Given the description of an element on the screen output the (x, y) to click on. 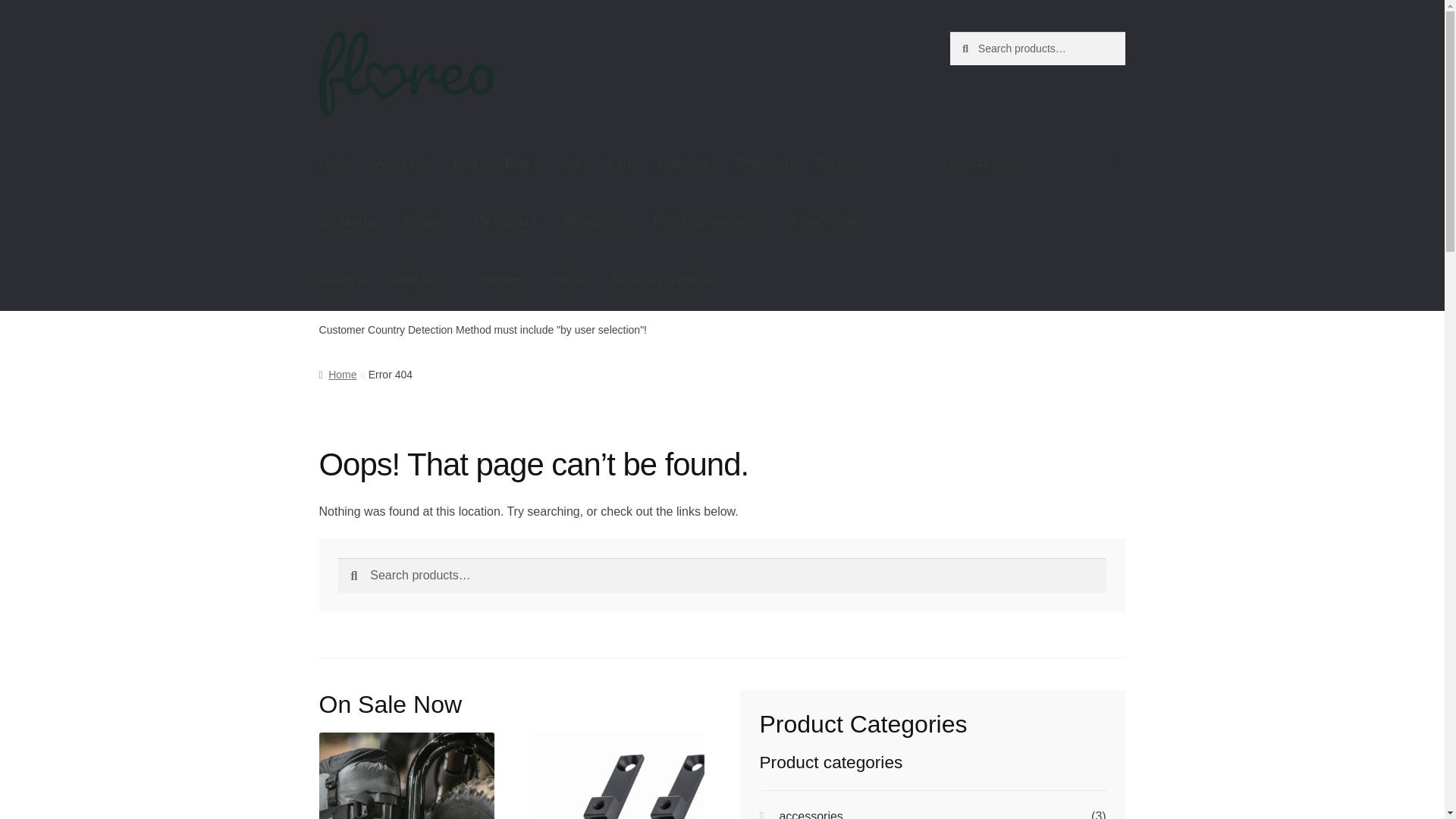
Products (342, 280)
My Account (504, 220)
Home (335, 162)
My account (594, 220)
Regulamin (422, 280)
Contact us (347, 220)
Privacy policy (827, 220)
Contact (836, 162)
Checkout (684, 162)
About Us (400, 162)
Checkout (762, 162)
View your shopping cart (1037, 162)
Kontakt (424, 220)
